Given the description of an element on the screen output the (x, y) to click on. 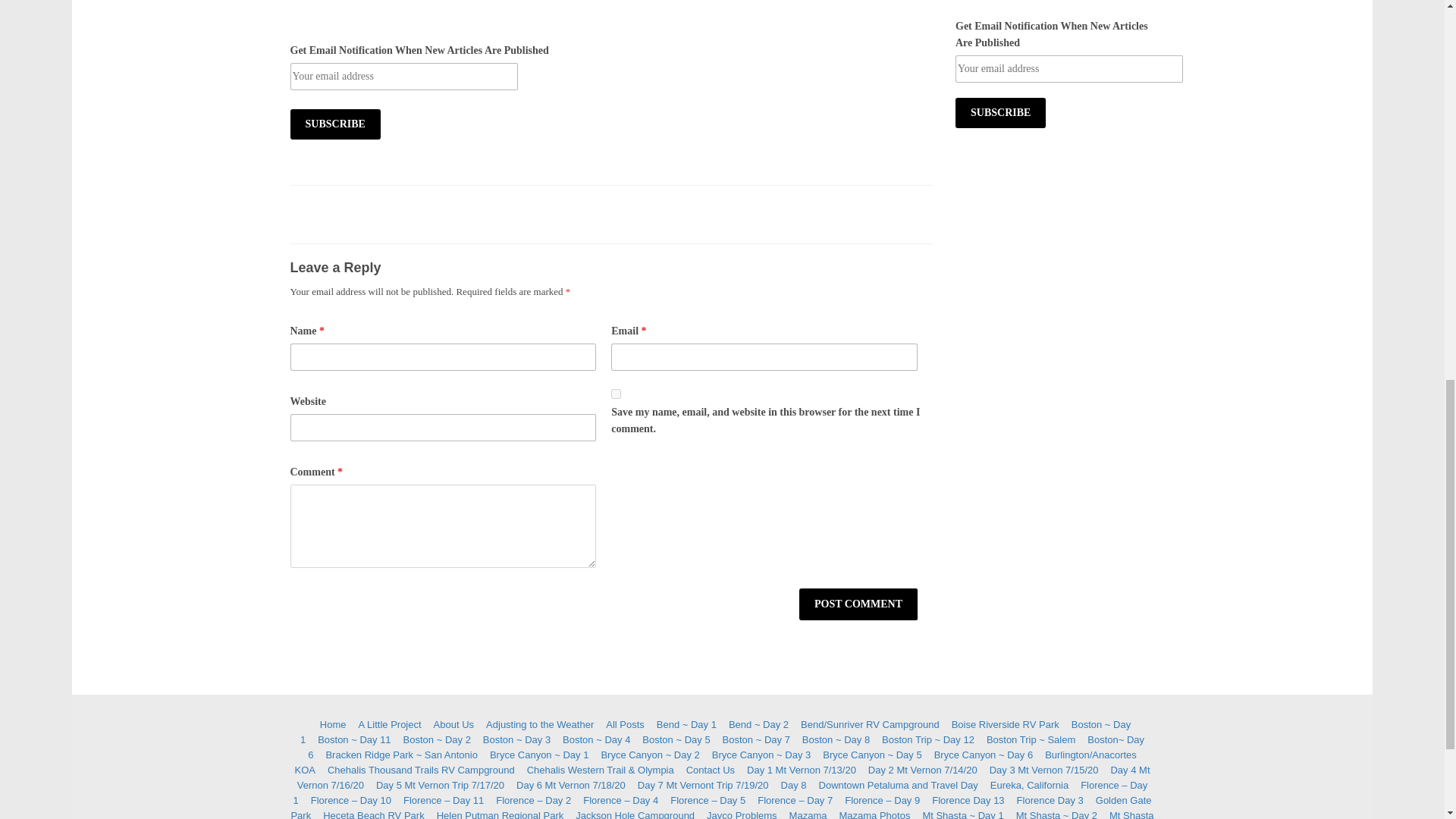
Adjusting to the Weather (540, 724)
Subscribe (1000, 112)
All Posts (625, 724)
yes (616, 393)
Subscribe (1000, 112)
Previous Post (306, 638)
Post Comment (858, 603)
Subscribe (334, 123)
Next Post (915, 638)
Home (333, 724)
